Given the description of an element on the screen output the (x, y) to click on. 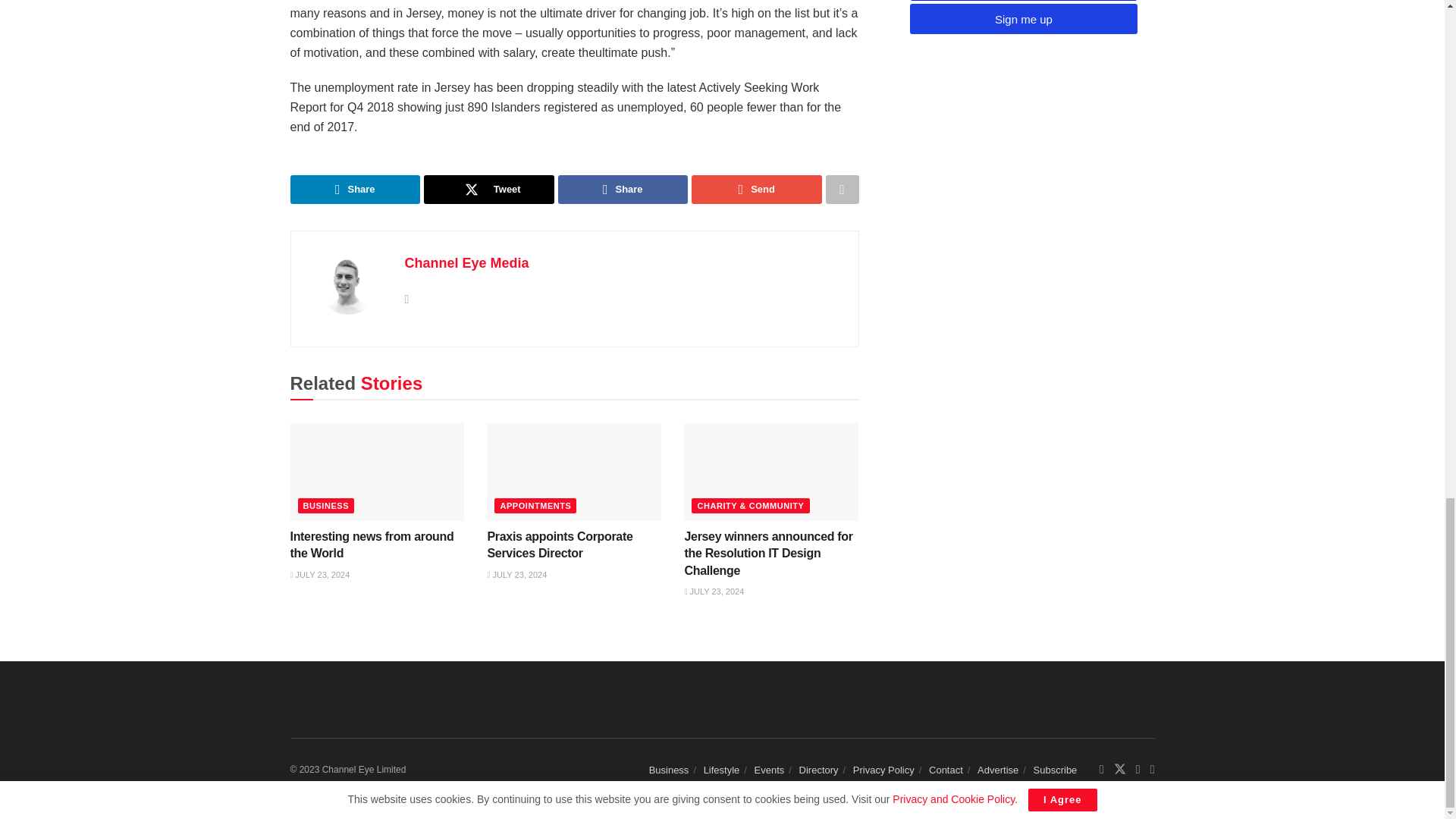
Page 2 (574, 107)
Page 1 (574, 31)
